Given the description of an element on the screen output the (x, y) to click on. 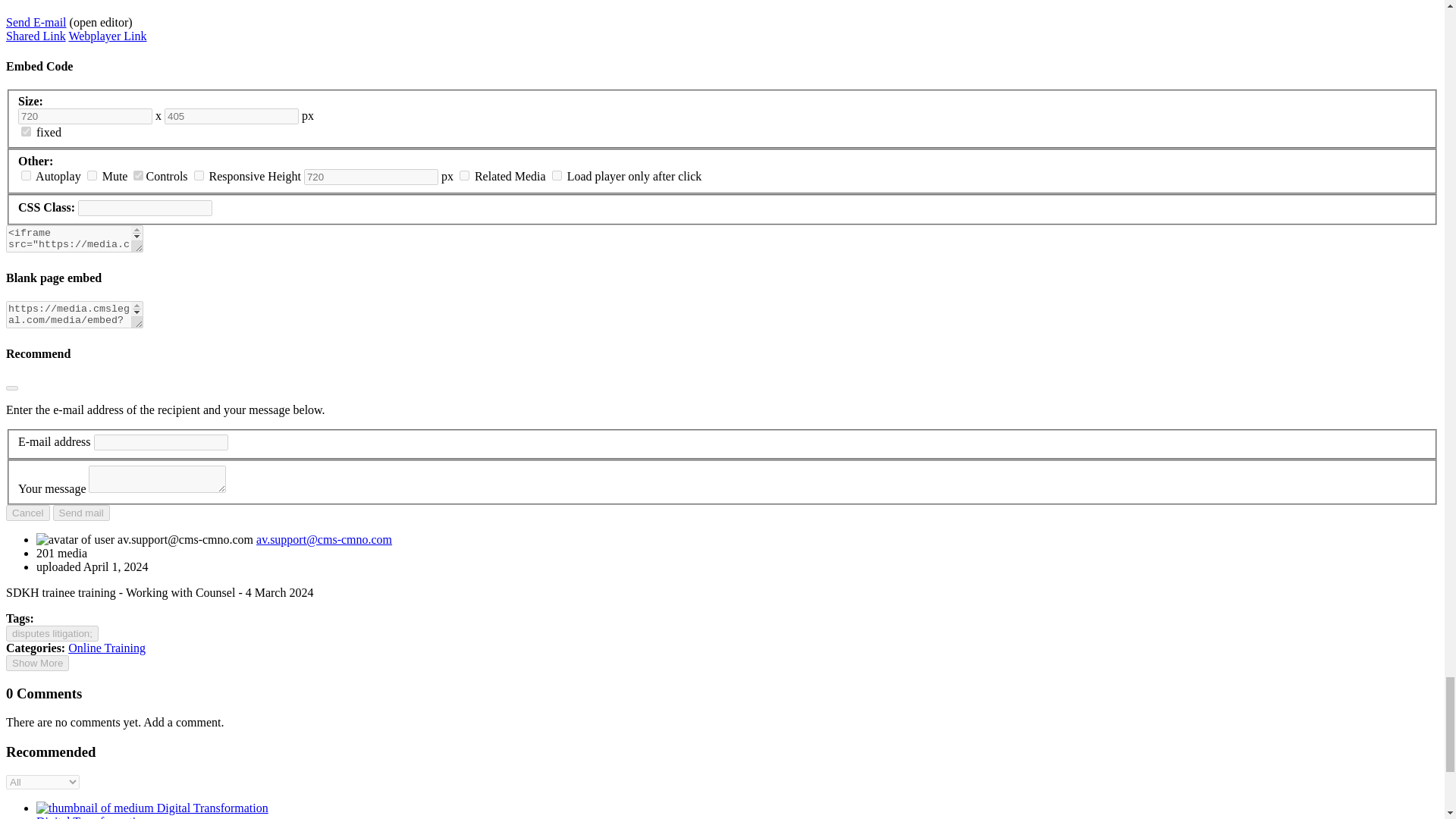
1 (25, 131)
